Given the description of an element on the screen output the (x, y) to click on. 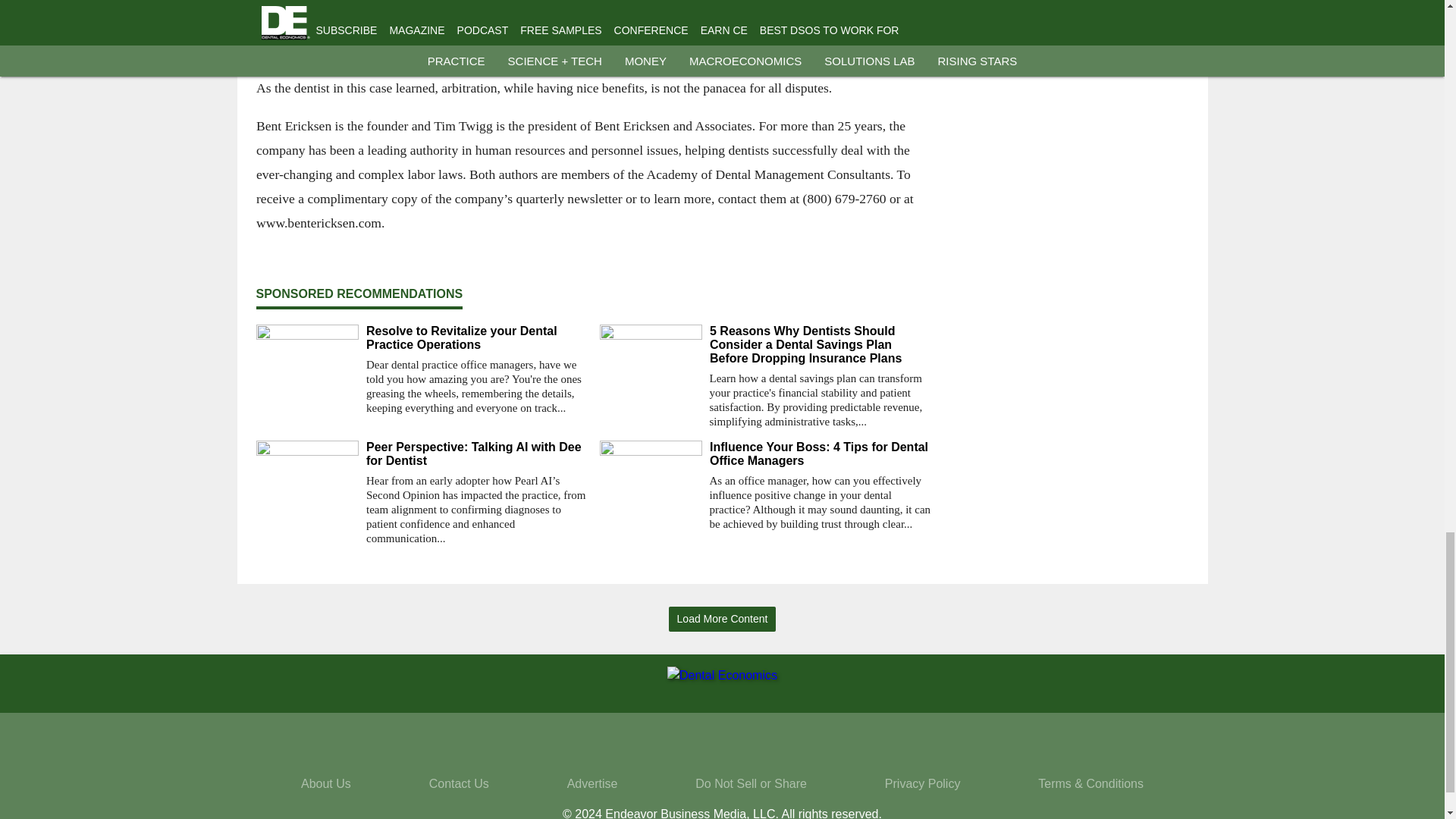
Resolve to Revitalize your Dental Practice Operations (476, 338)
Influence Your Boss: 4 Tips for Dental Office Managers (820, 453)
Peer Perspective: Talking AI with Dee for Dentist (476, 453)
